Given the description of an element on the screen output the (x, y) to click on. 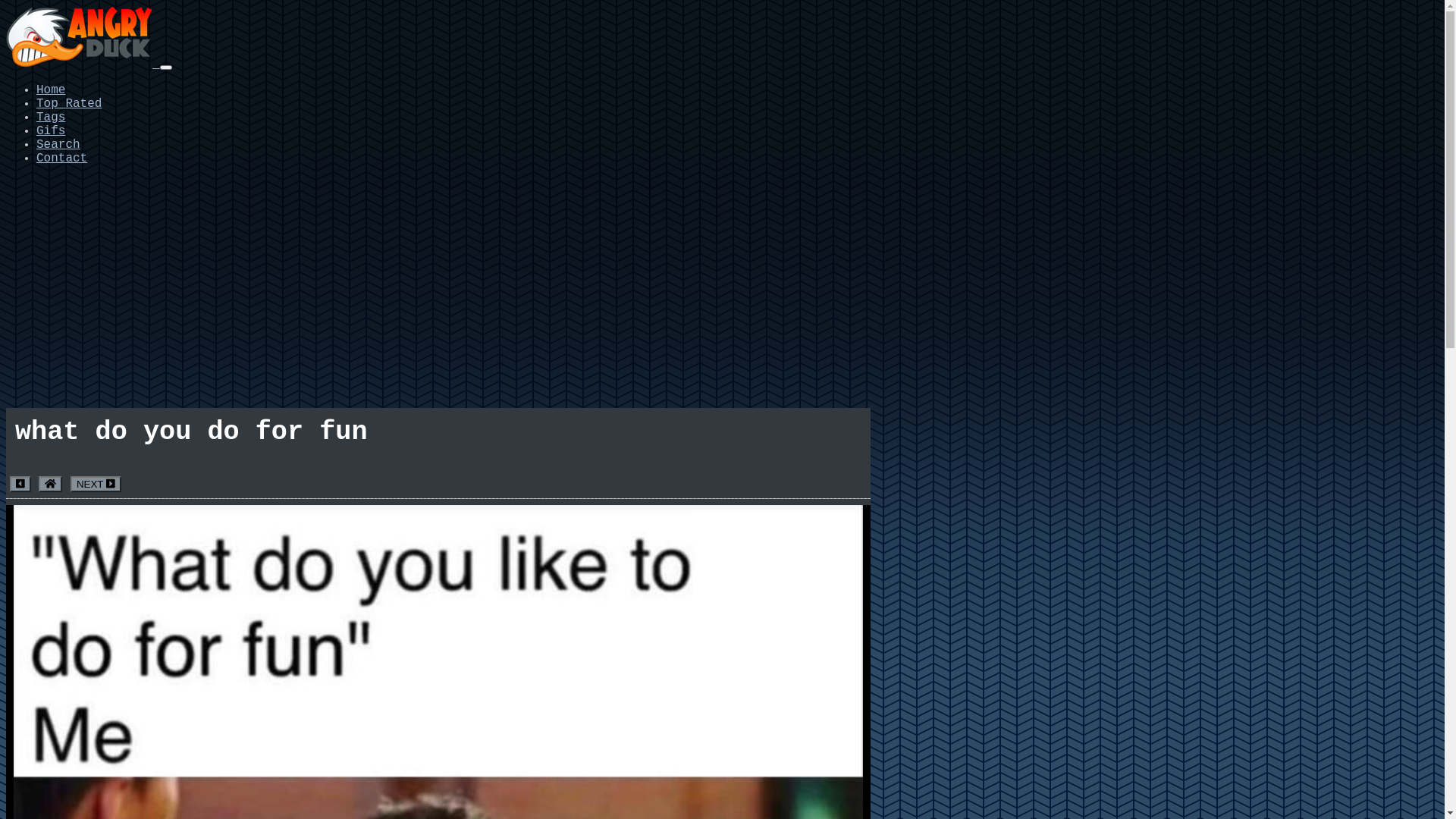
Search Element type: text (58, 144)
Gifs Element type: text (50, 131)
Advertisement Element type: hover (721, 283)
Contact Element type: text (61, 158)
Top Rated Element type: text (68, 103)
Tags Element type: text (50, 117)
Home Element type: text (50, 90)
NEXT Element type: text (95, 484)
